Given the description of an element on the screen output the (x, y) to click on. 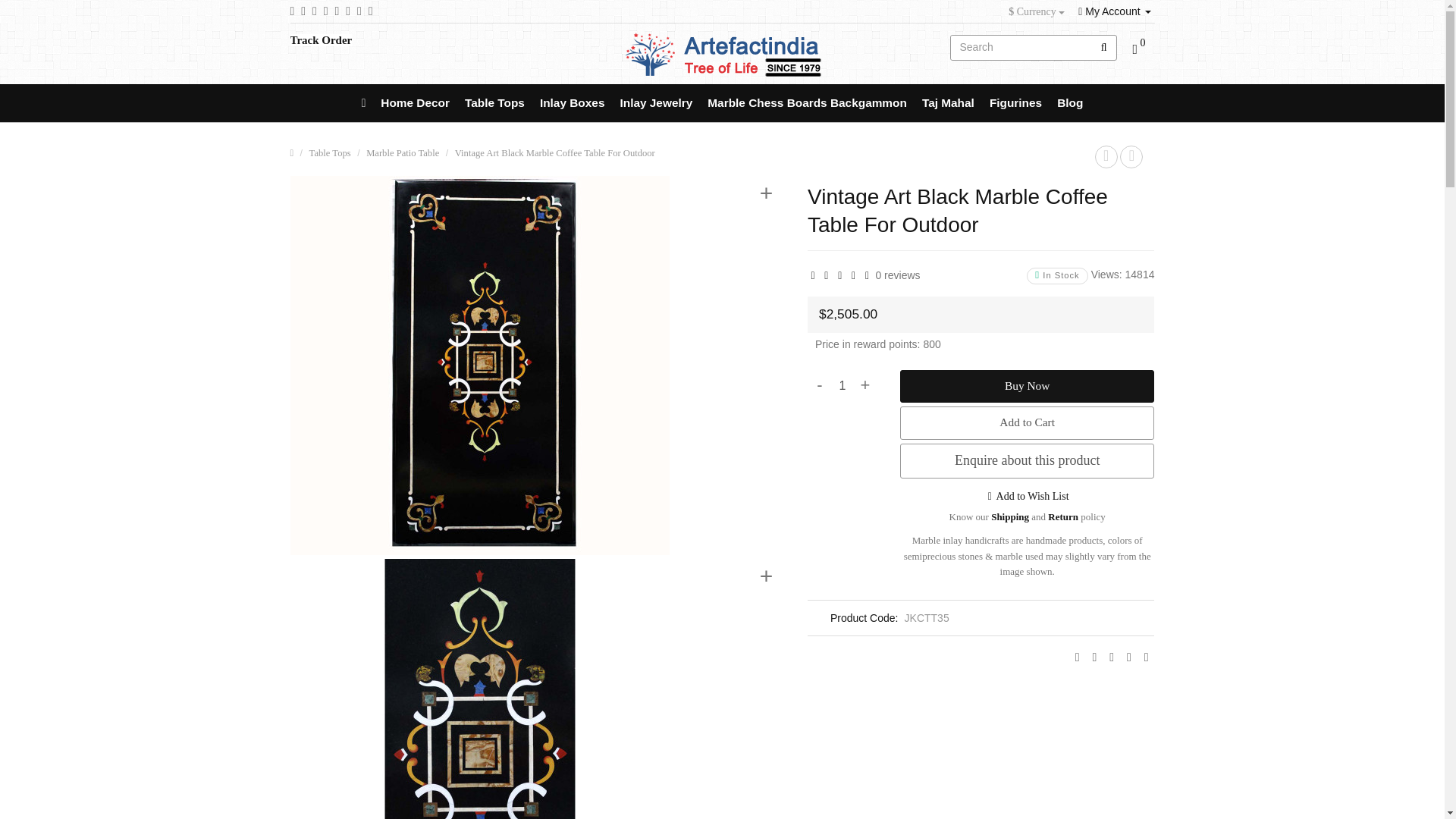
My Account (1114, 10)
 Vintage Art Black Marble Coffee Table For Outdoor (536, 688)
